Given the description of an element on the screen output the (x, y) to click on. 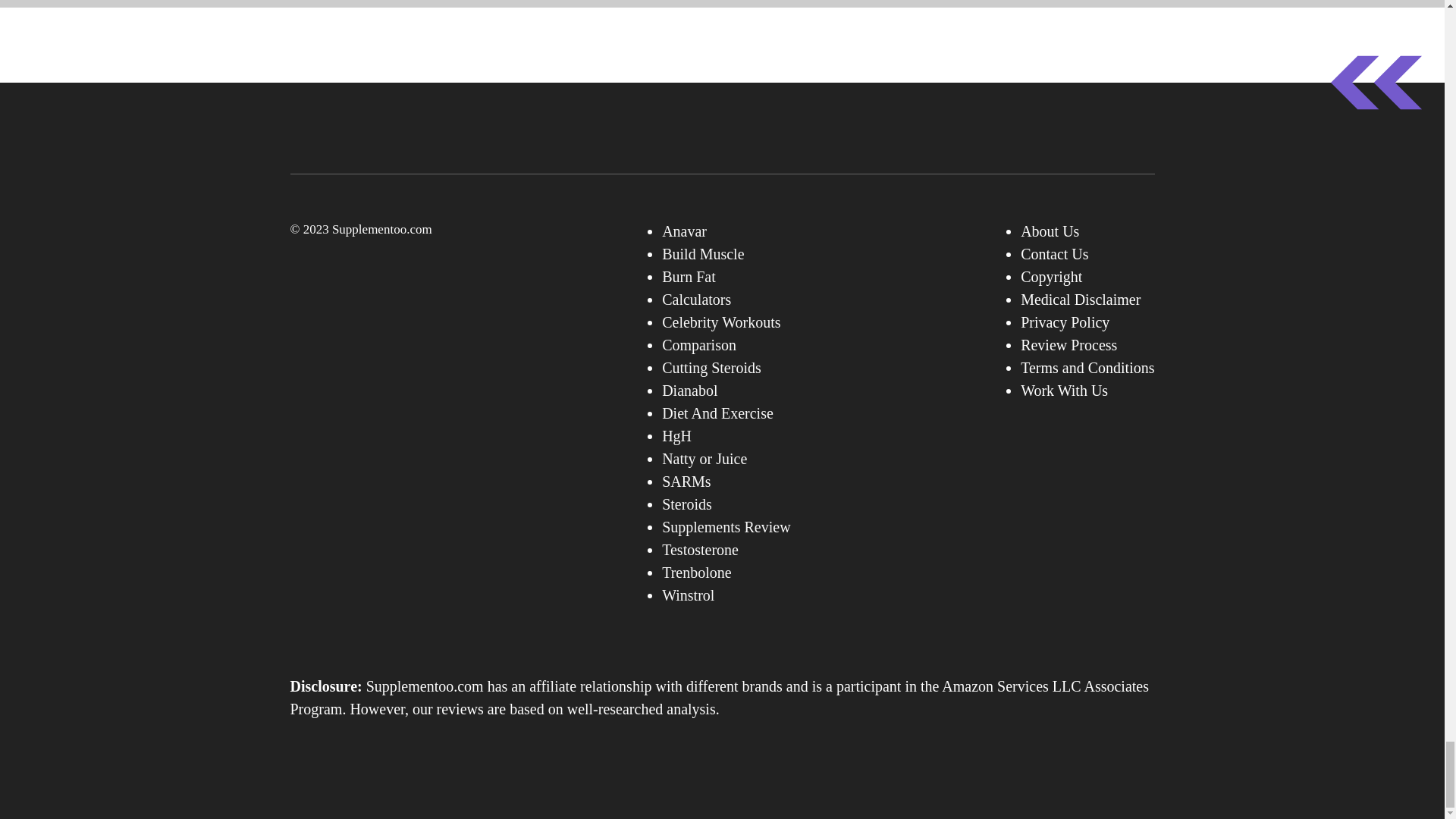
Anavar (684, 230)
Build Muscle (703, 253)
